Given the description of an element on the screen output the (x, y) to click on. 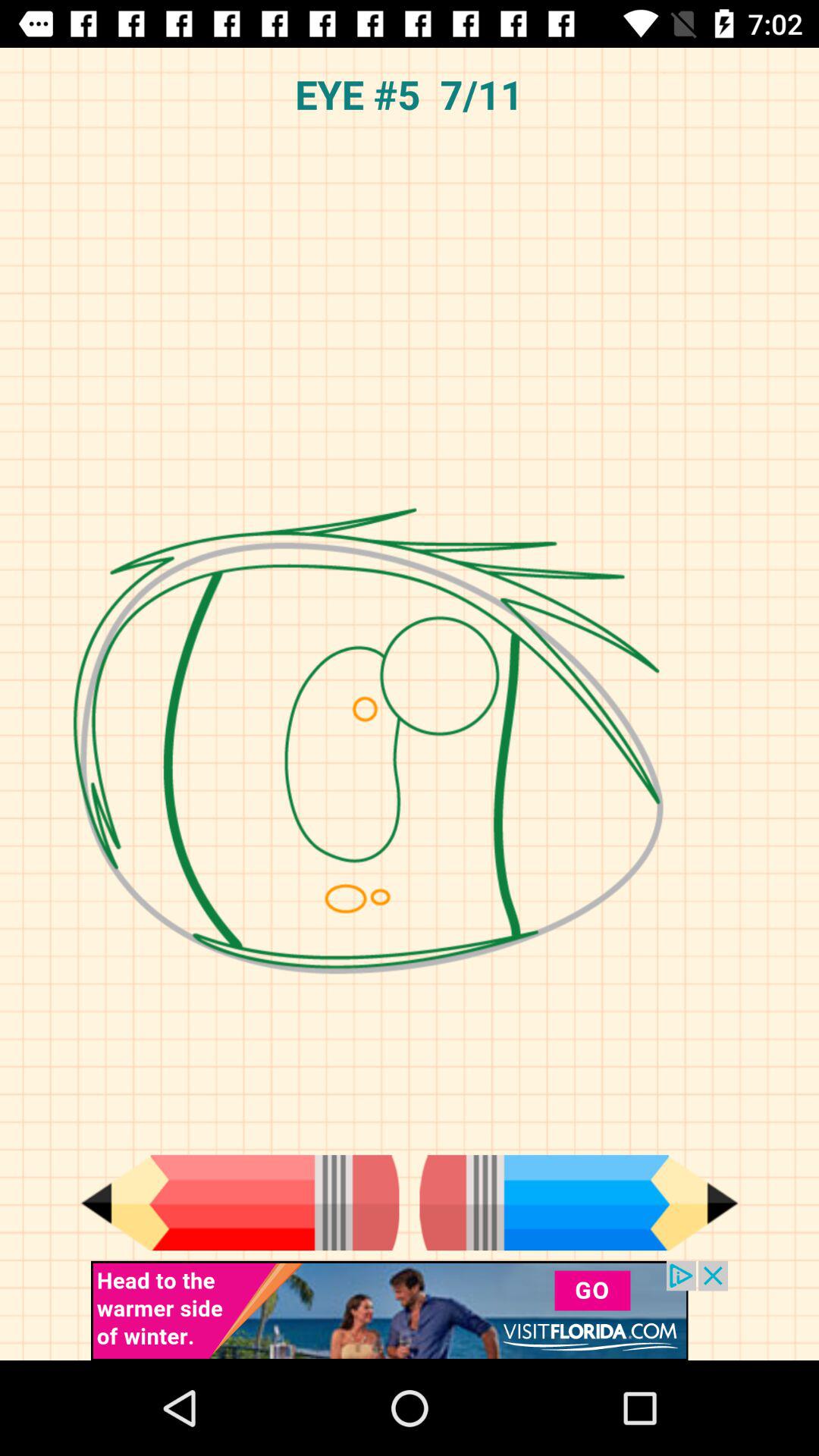
go to next page (578, 1202)
